Given the description of an element on the screen output the (x, y) to click on. 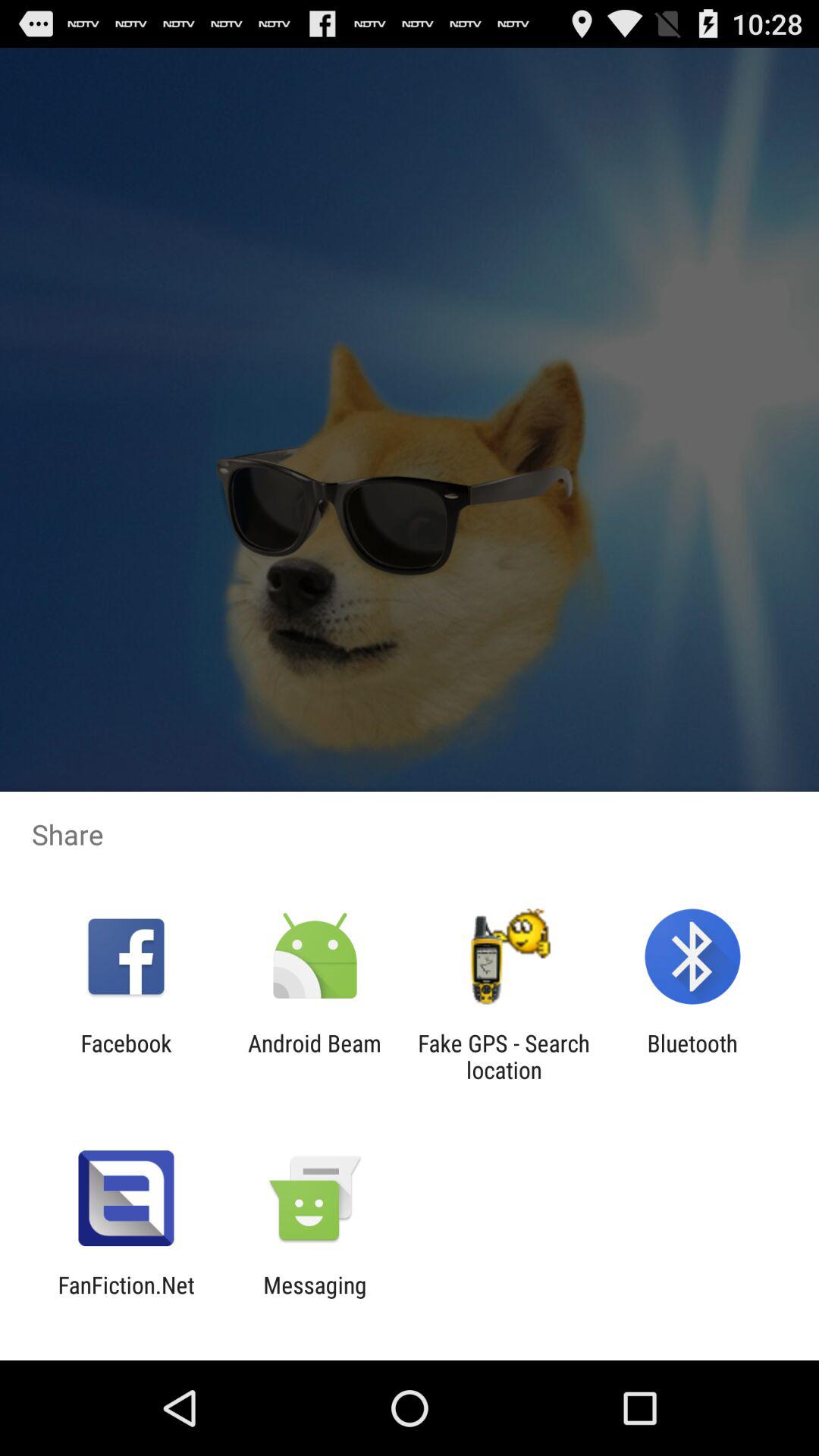
choose the item to the left of the bluetooth icon (503, 1056)
